Given the description of an element on the screen output the (x, y) to click on. 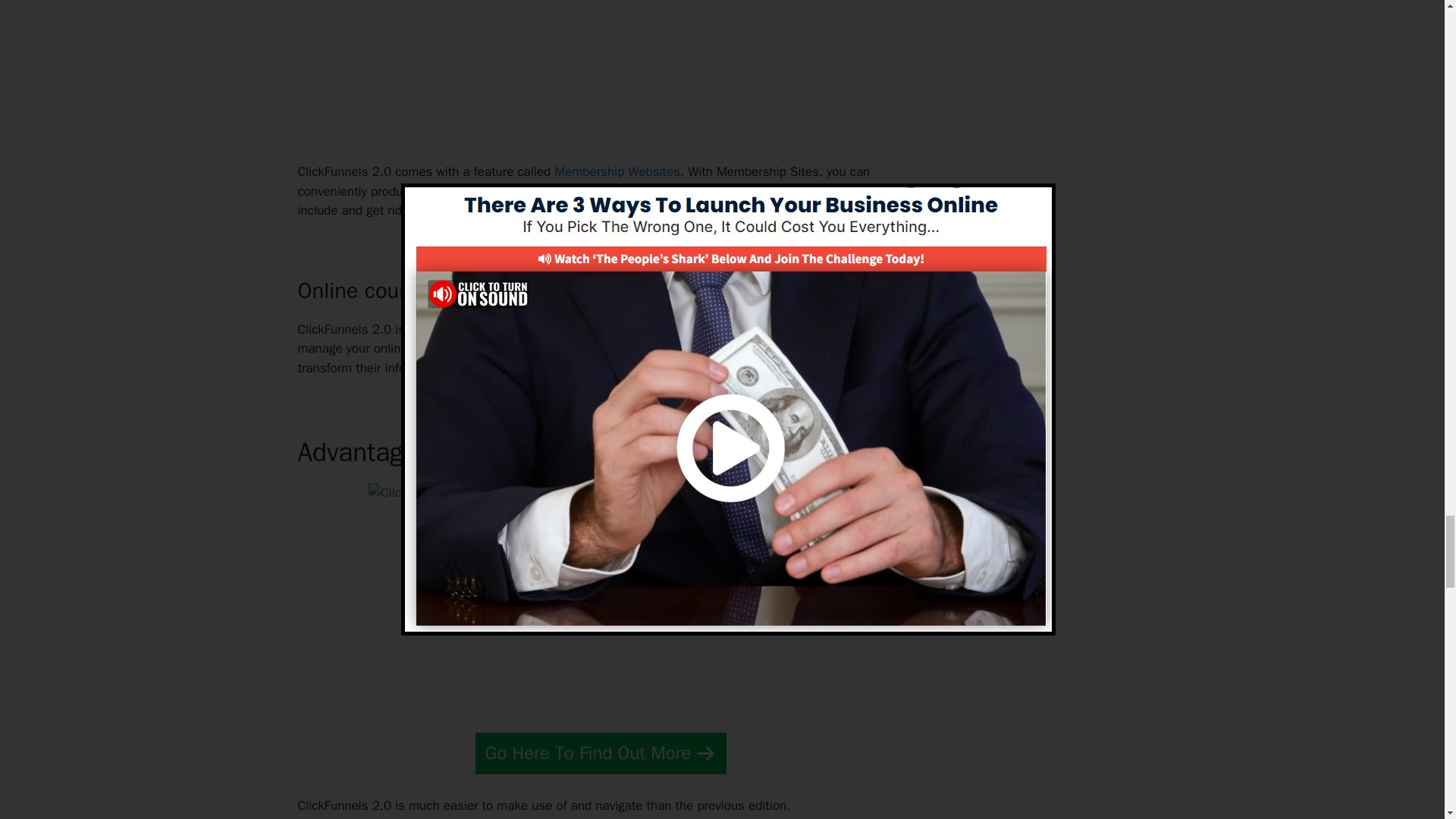
membership websites (575, 191)
Go Here To Find Out More (601, 752)
Membership Websites (616, 171)
